Given the description of an element on the screen output the (x, y) to click on. 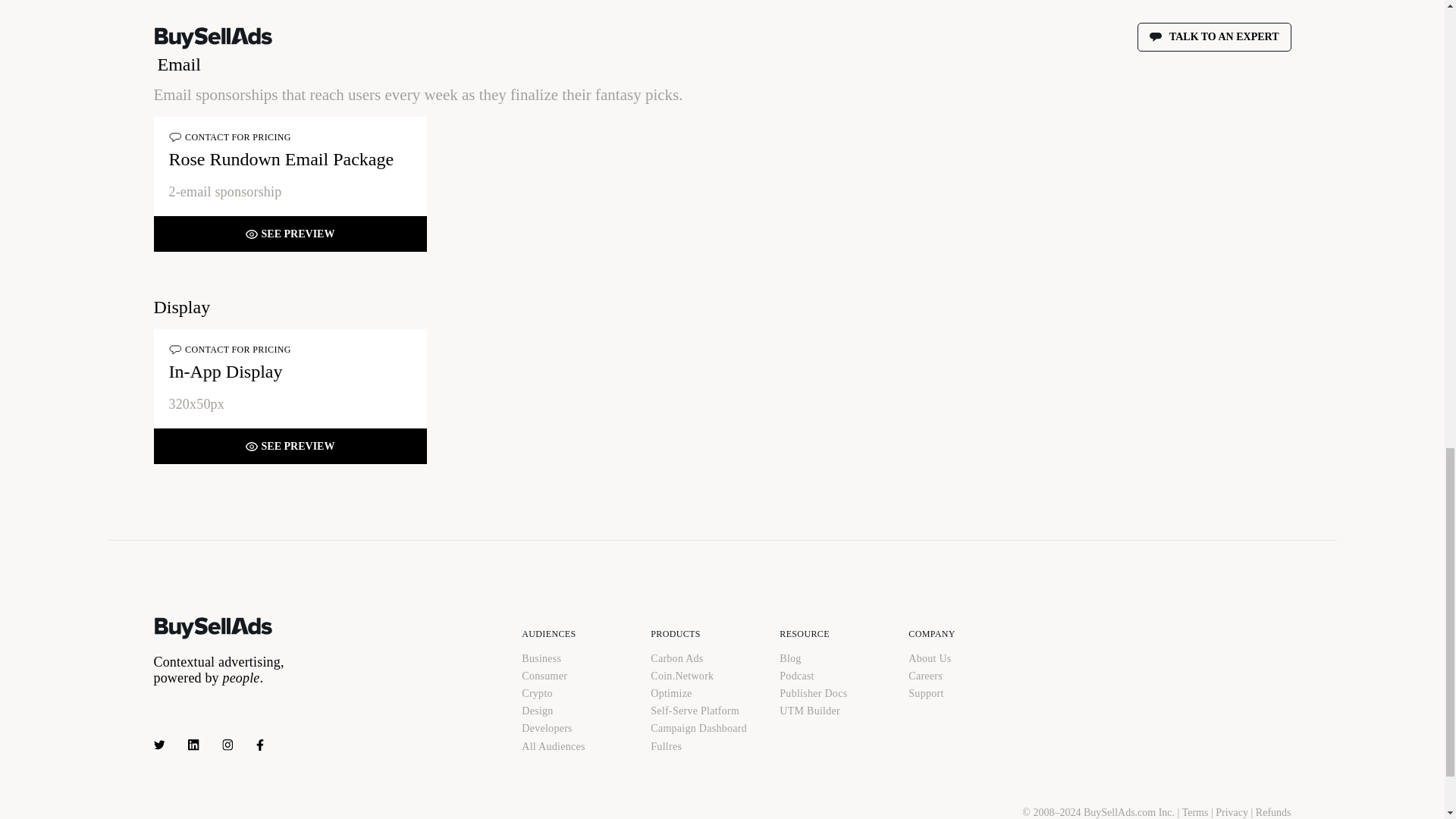
SEE PREVIEW (289, 446)
SEE PREVIEW (289, 234)
